Given the description of an element on the screen output the (x, y) to click on. 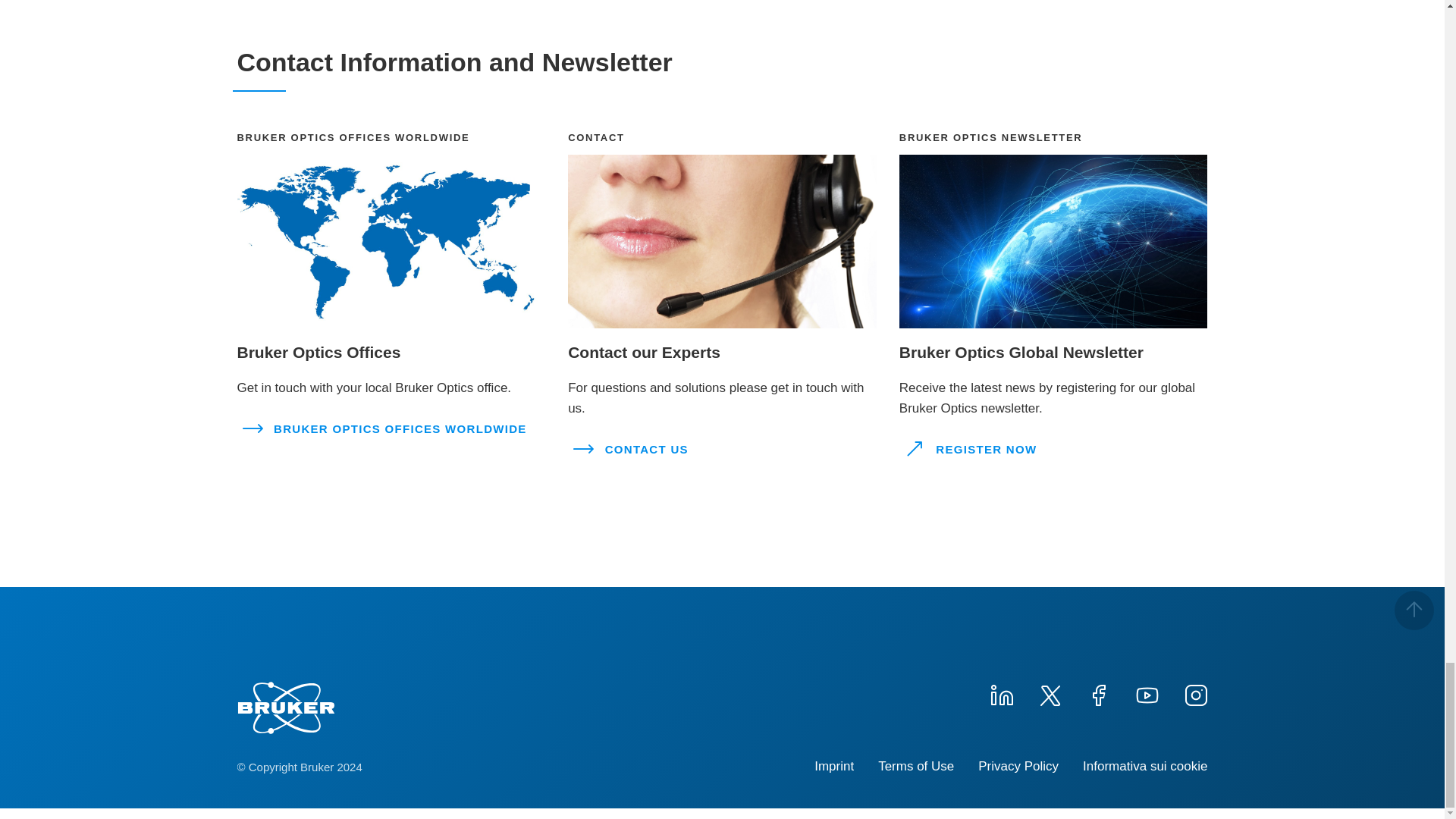
world commumnication space (1053, 241)
instagram (1194, 693)
linkedin (1000, 693)
twitter (1048, 693)
telephon headset (721, 241)
youtube (1146, 693)
facebook (1097, 693)
